Given the description of an element on the screen output the (x, y) to click on. 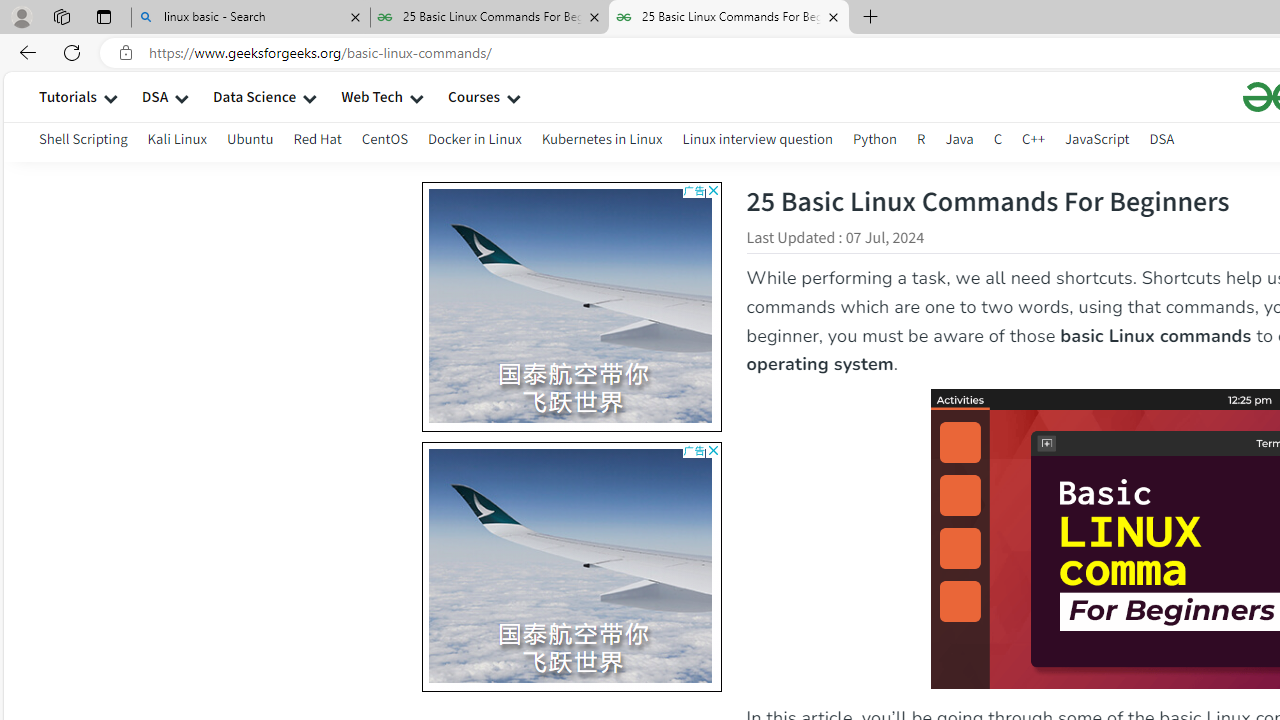
Ubuntu (250, 138)
JavaScript (1097, 142)
AutomationID: bg2 (571, 563)
Ubuntu (250, 142)
JavaScript (1097, 138)
Java (959, 142)
AutomationID: cbb (712, 449)
AutomationID: bg5 (857, 566)
Tutorials (67, 96)
R (921, 142)
Data Science (254, 96)
Shell Scripting (83, 138)
Python (874, 138)
Courses (474, 96)
